Given the description of an element on the screen output the (x, y) to click on. 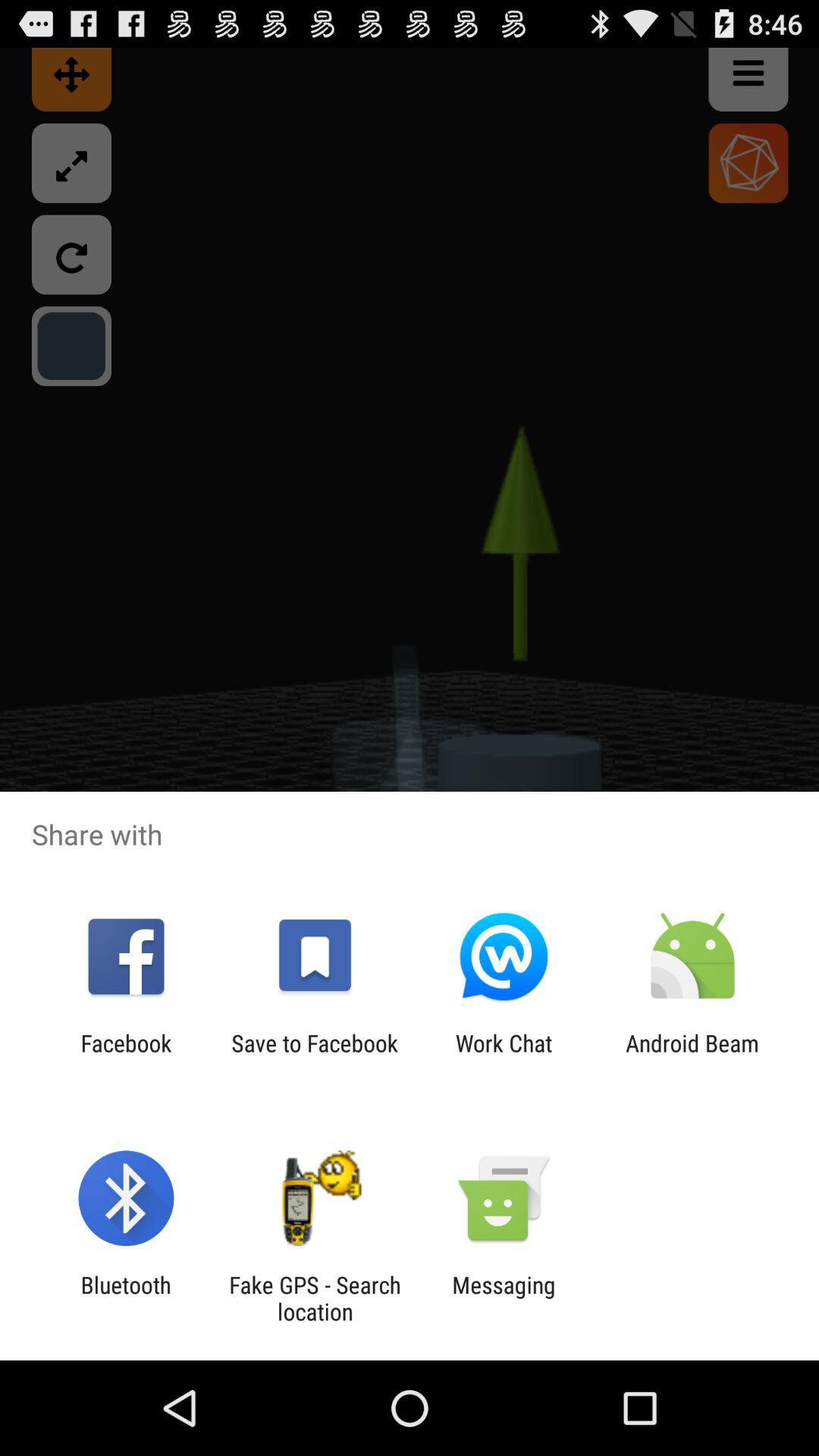
tap the app to the right of the bluetooth app (314, 1298)
